Given the description of an element on the screen output the (x, y) to click on. 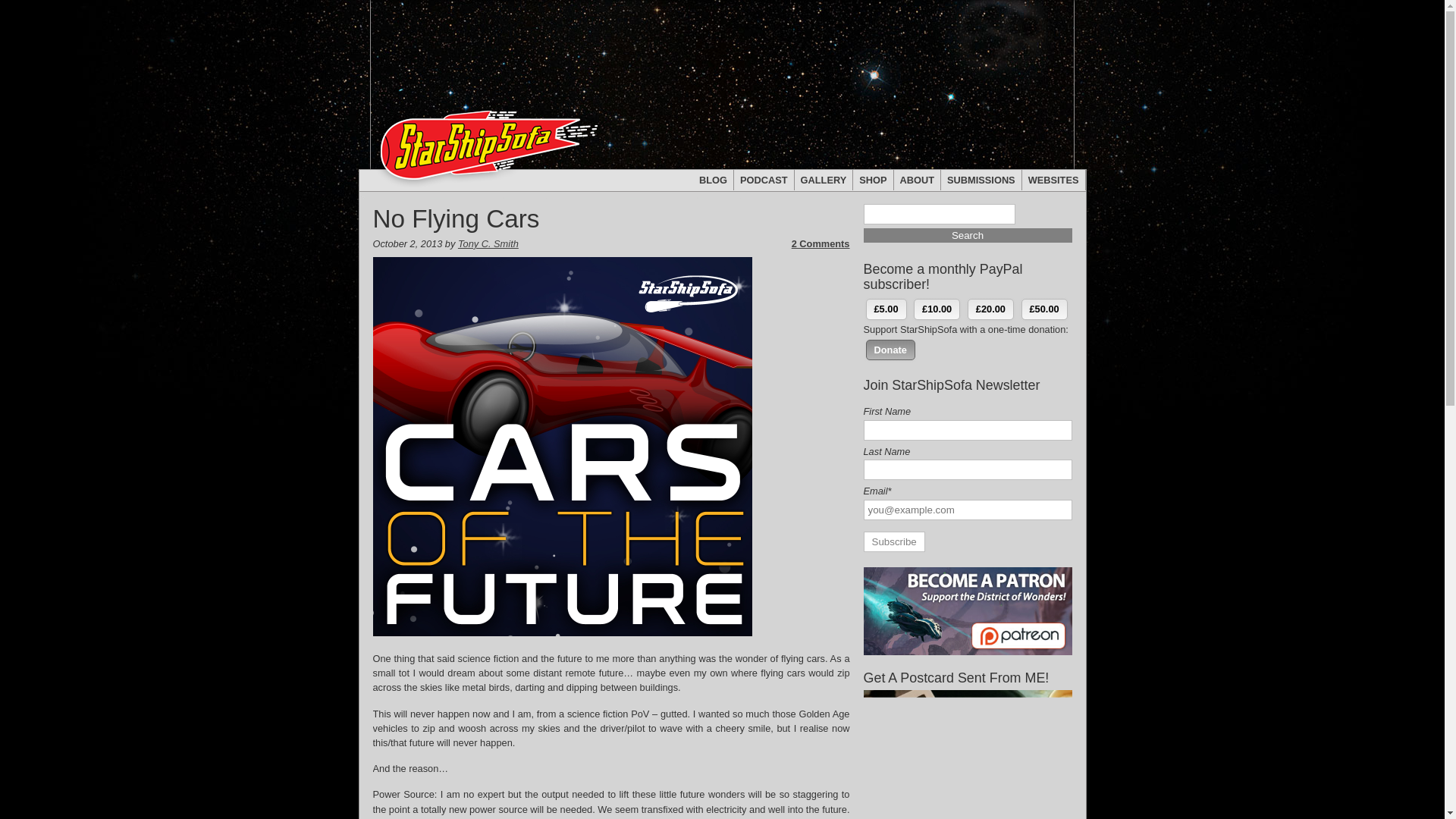
ABOUT (917, 179)
Subscribe (893, 541)
Get A Postcard Sent From ME! (967, 754)
WEBSITES (1054, 179)
SHOP (873, 179)
GALLERY (823, 179)
View posts by Tony C. Smith (488, 243)
Tony C. Smith (488, 243)
PODCAST (763, 179)
SUBMISSIONS (981, 179)
